Given the description of an element on the screen output the (x, y) to click on. 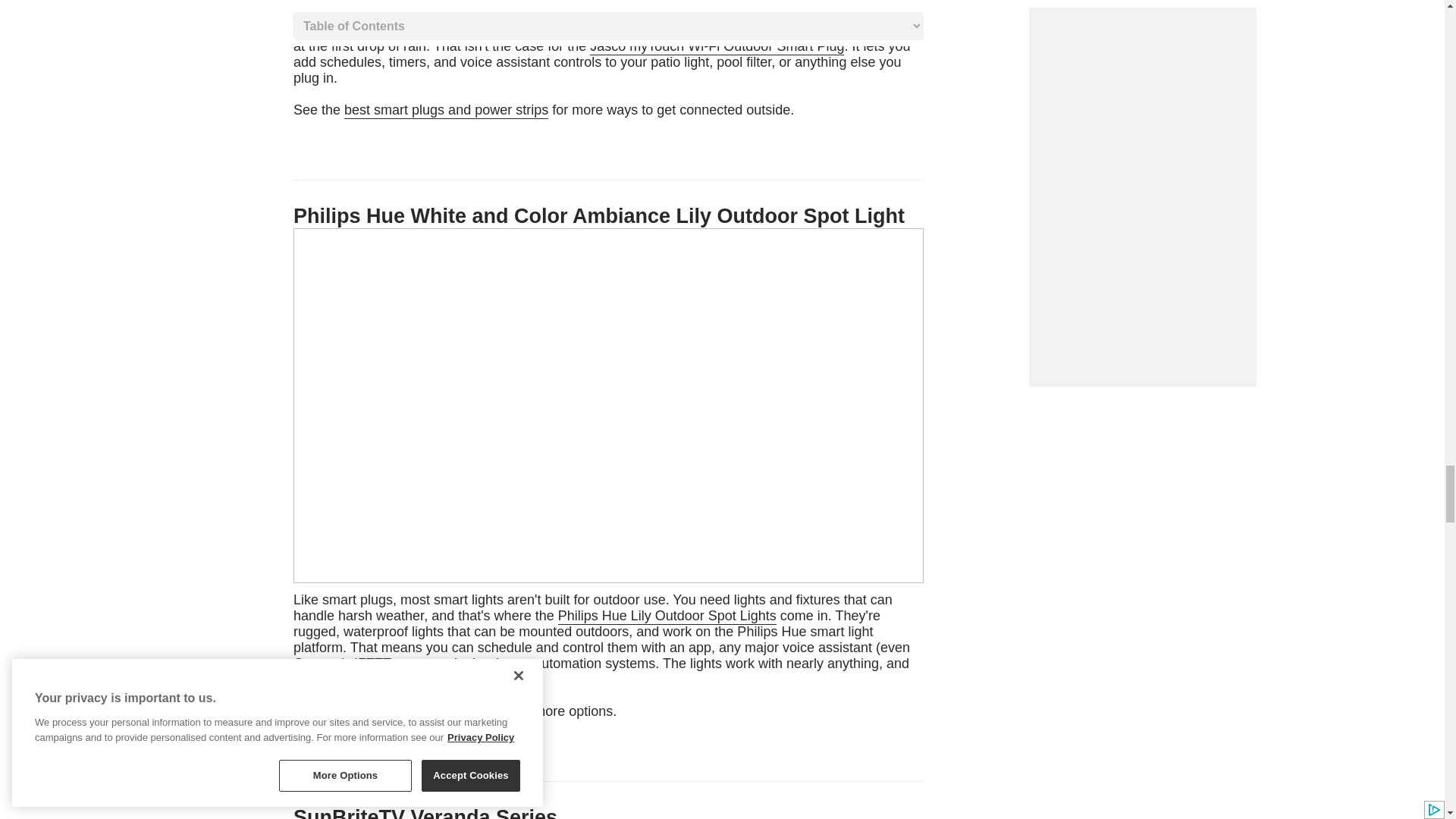
Buy It Now (604, 70)
Buy It Now (602, 656)
